Given the description of an element on the screen output the (x, y) to click on. 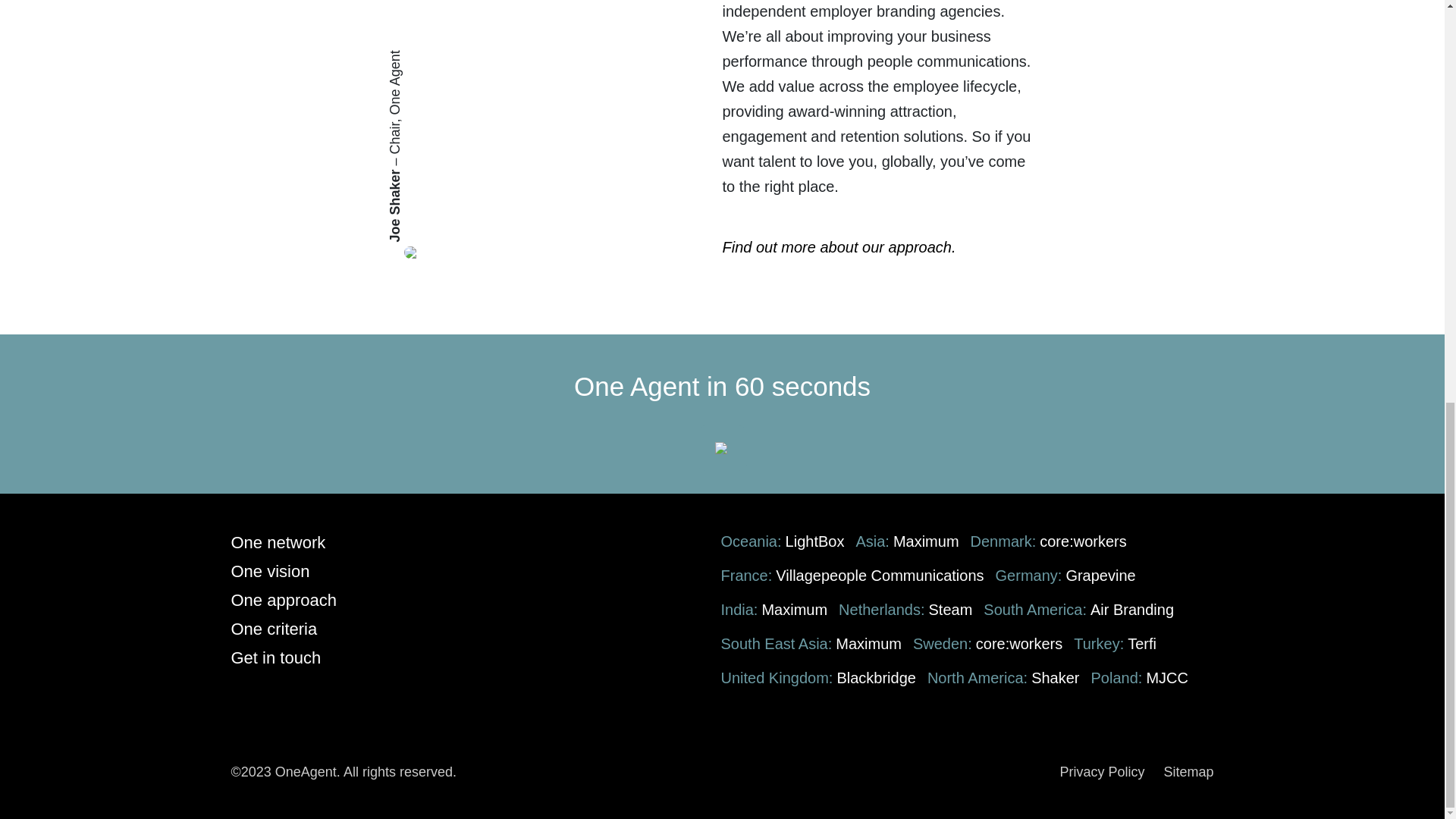
Terfi (1141, 643)
Get in touch (275, 657)
Grapevine (1100, 575)
Find out more about our approach. (838, 247)
Maximum (794, 609)
core:workers (1082, 541)
Maximum (926, 541)
One vision (269, 570)
core:workers (1018, 643)
One network (277, 542)
